Given the description of an element on the screen output the (x, y) to click on. 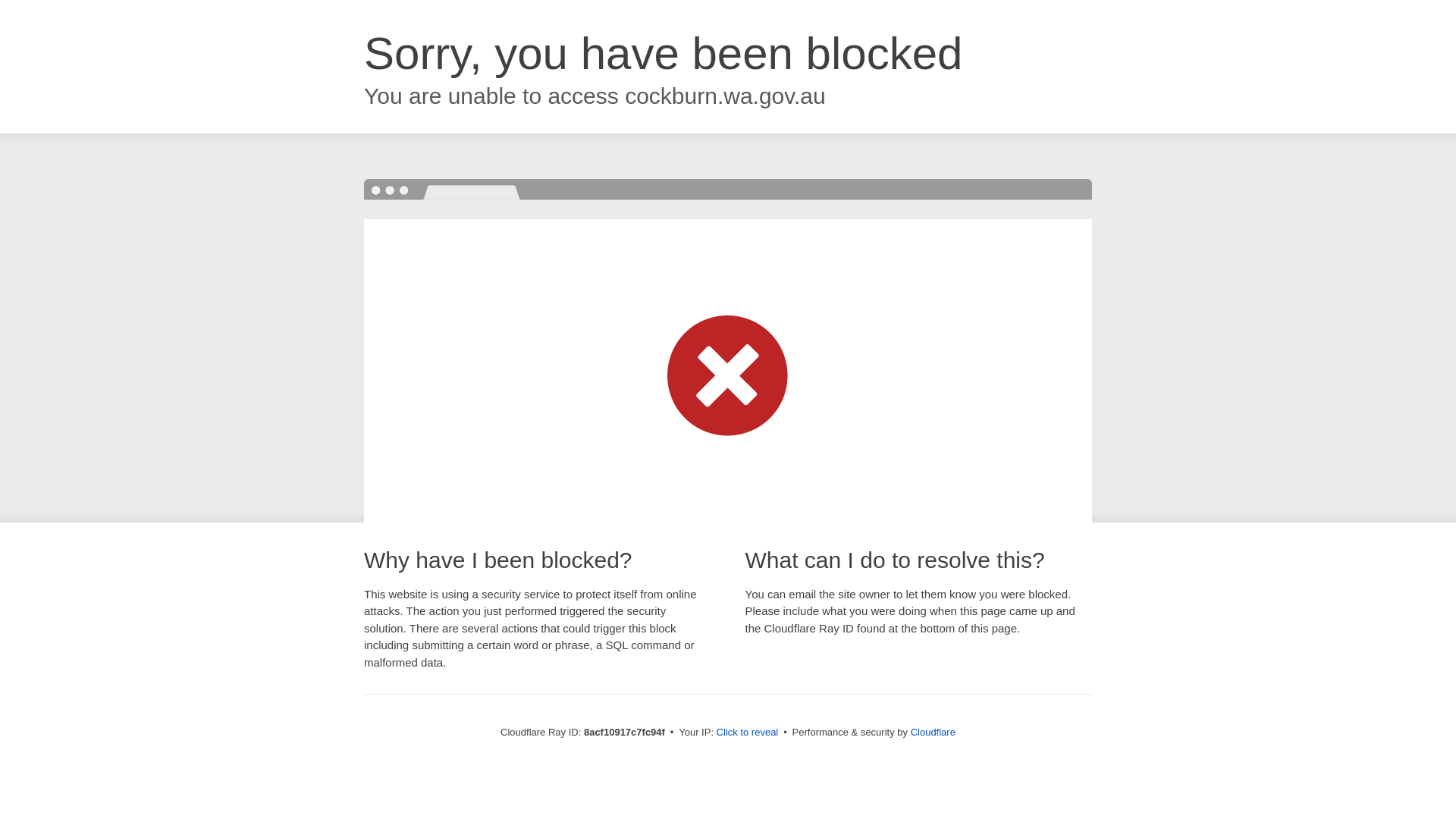
Cloudflare (933, 731)
Click to reveal (747, 732)
